Given the description of an element on the screen output the (x, y) to click on. 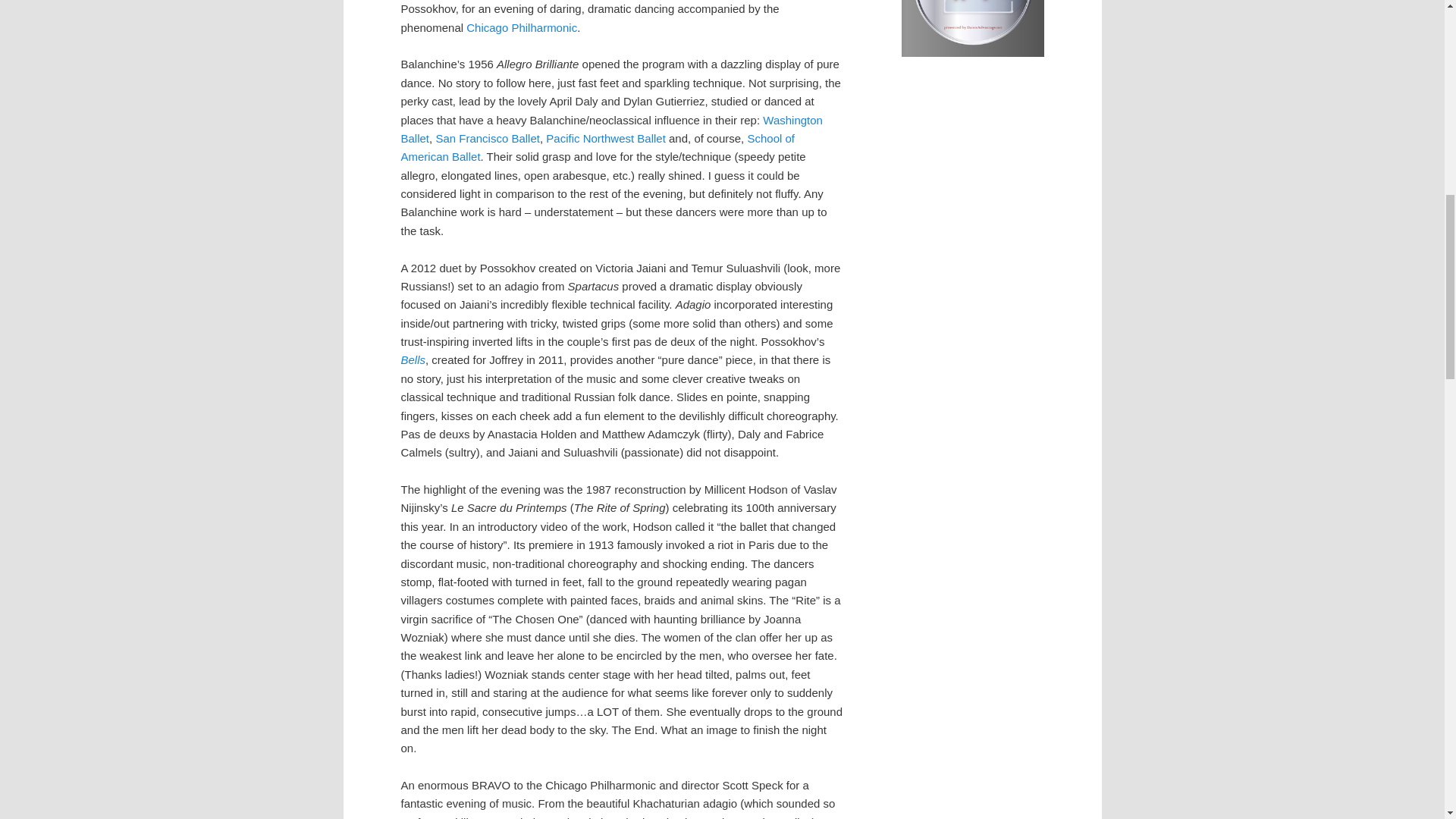
School of American Ballet (596, 146)
Chicago Philharmonic (520, 27)
Pacific Northwest Ballet (605, 137)
Bells (412, 359)
Washington Ballet (611, 128)
San Francisco Ballet (487, 137)
